Given the description of an element on the screen output the (x, y) to click on. 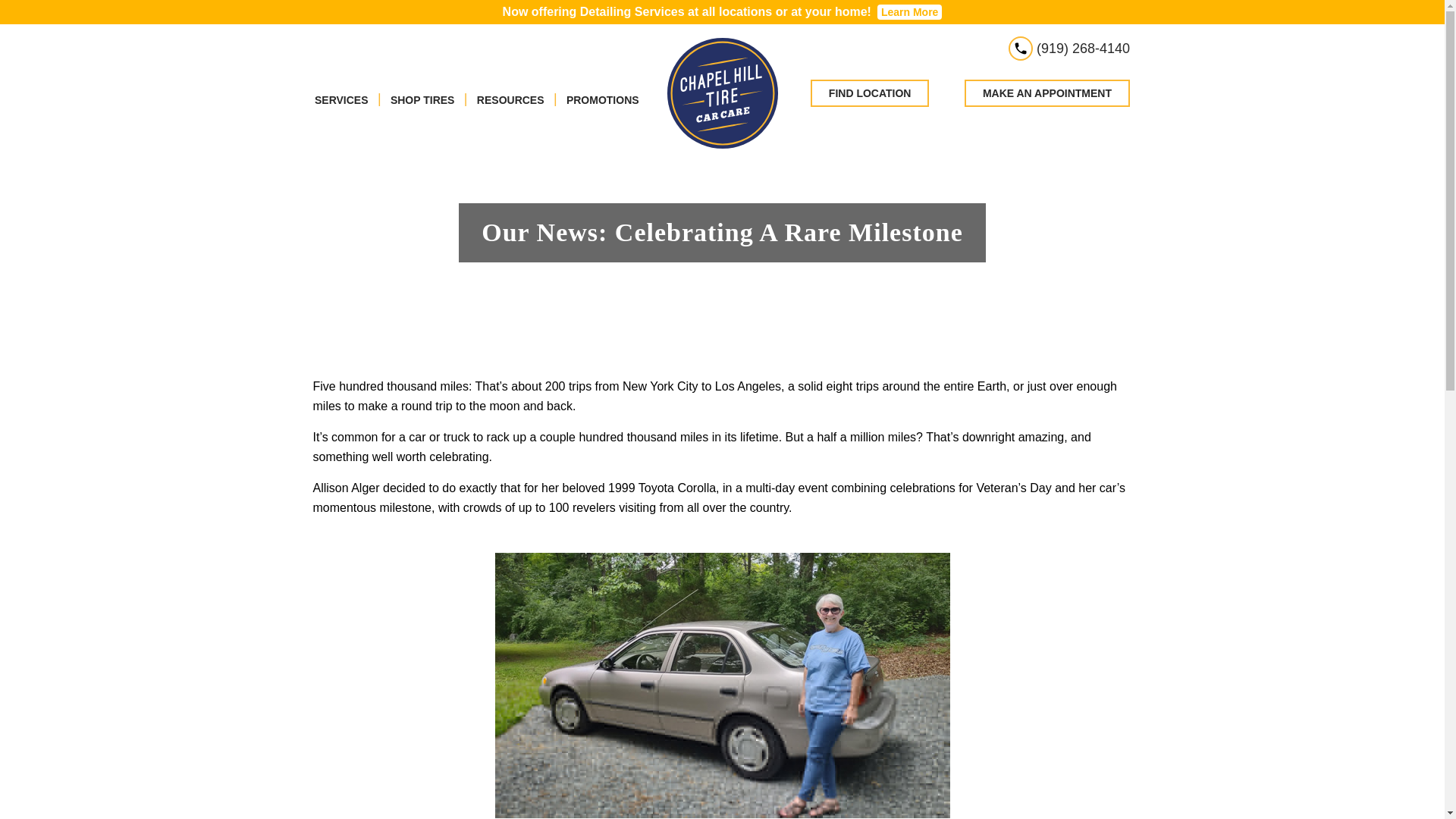
SERVICES (341, 100)
RESOURCES (510, 100)
Learn More (909, 11)
FIND LOCATION (870, 93)
SHOP TIRES (422, 100)
PROMOTIONS (602, 100)
MAKE AN APPOINTMENT (1047, 93)
